Given the description of an element on the screen output the (x, y) to click on. 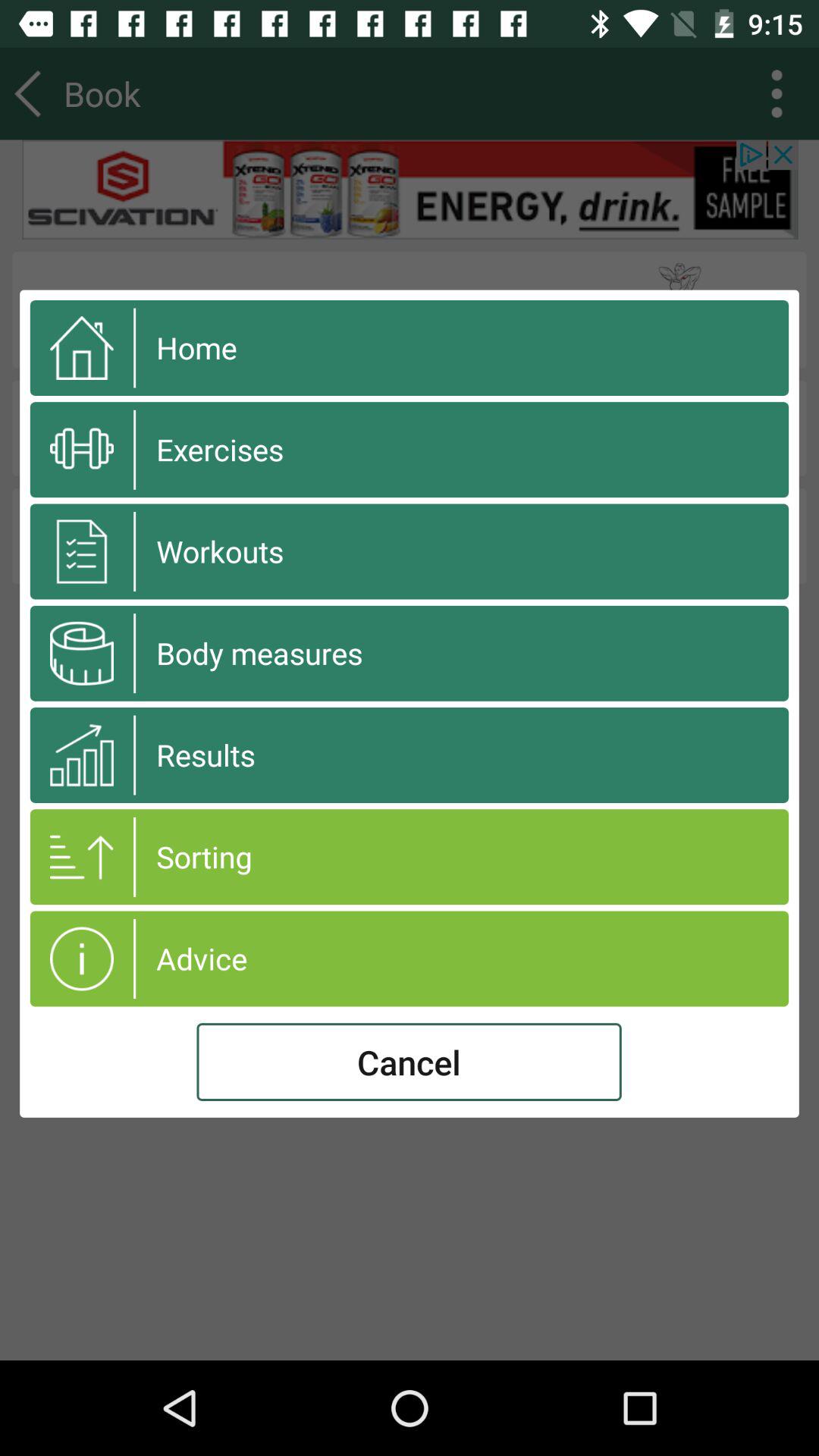
flip until the cancel (408, 1062)
